Given the description of an element on the screen output the (x, y) to click on. 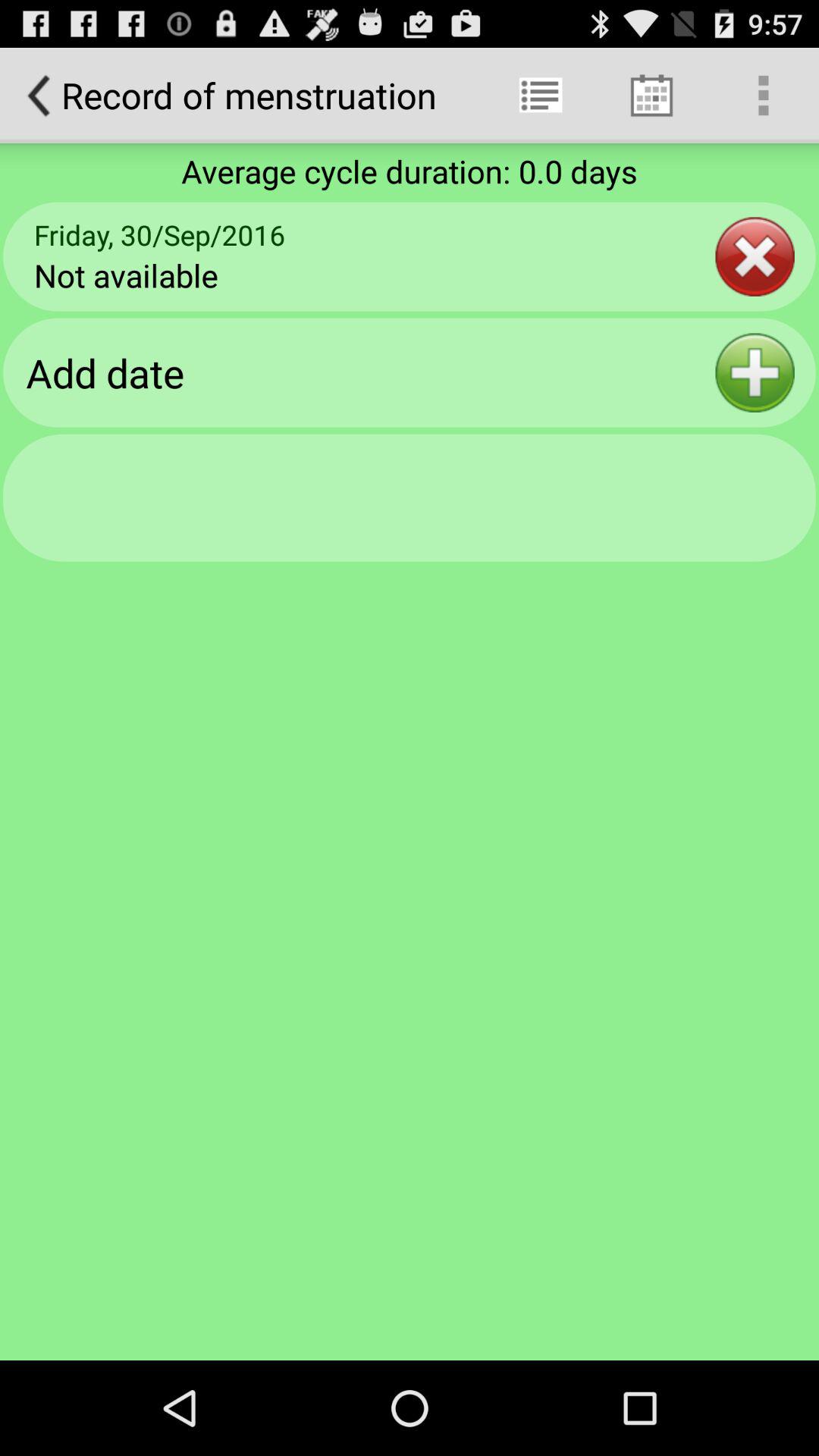
add button (754, 372)
